Given the description of an element on the screen output the (x, y) to click on. 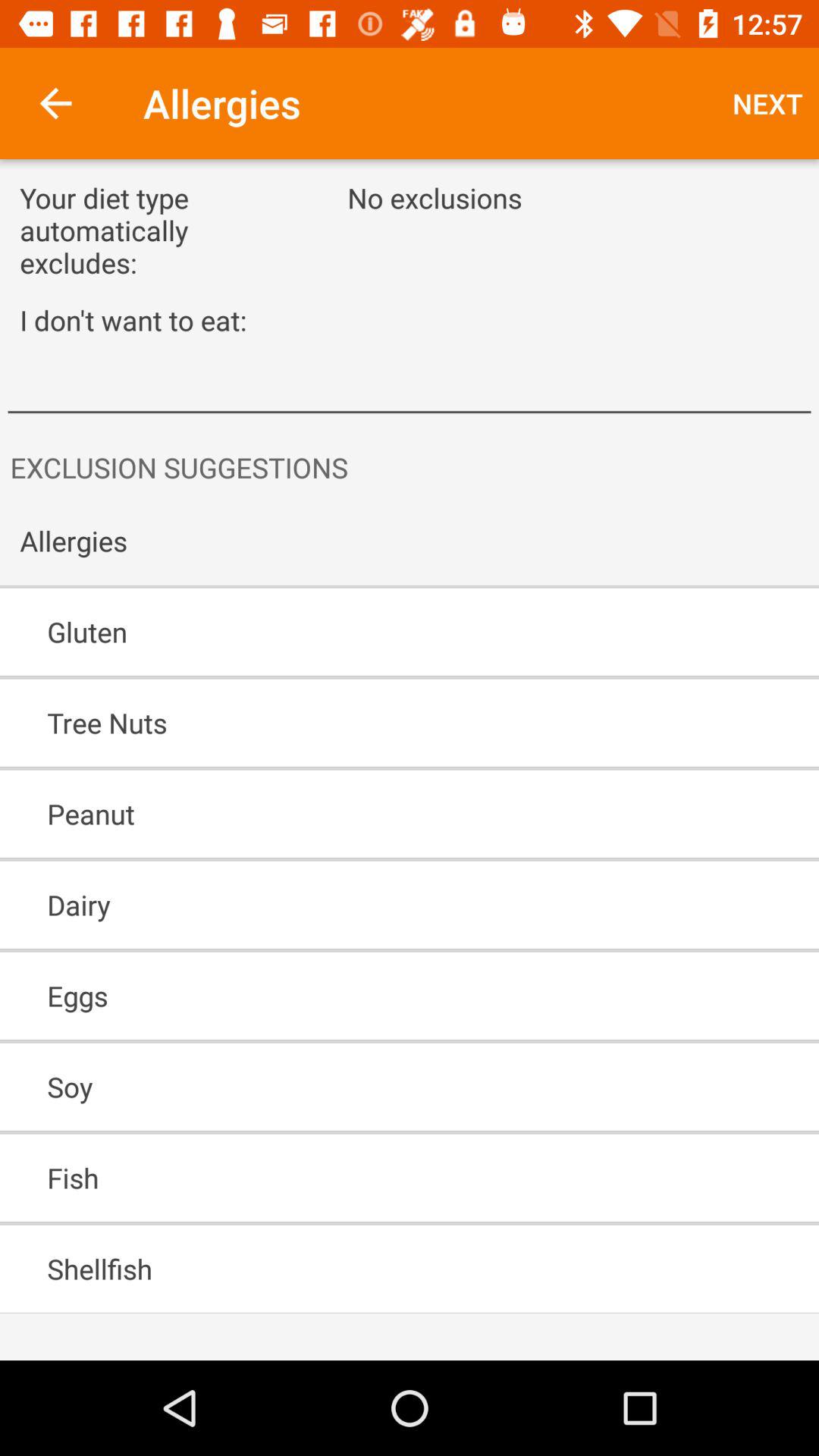
scroll to the next (767, 103)
